Given the description of an element on the screen output the (x, y) to click on. 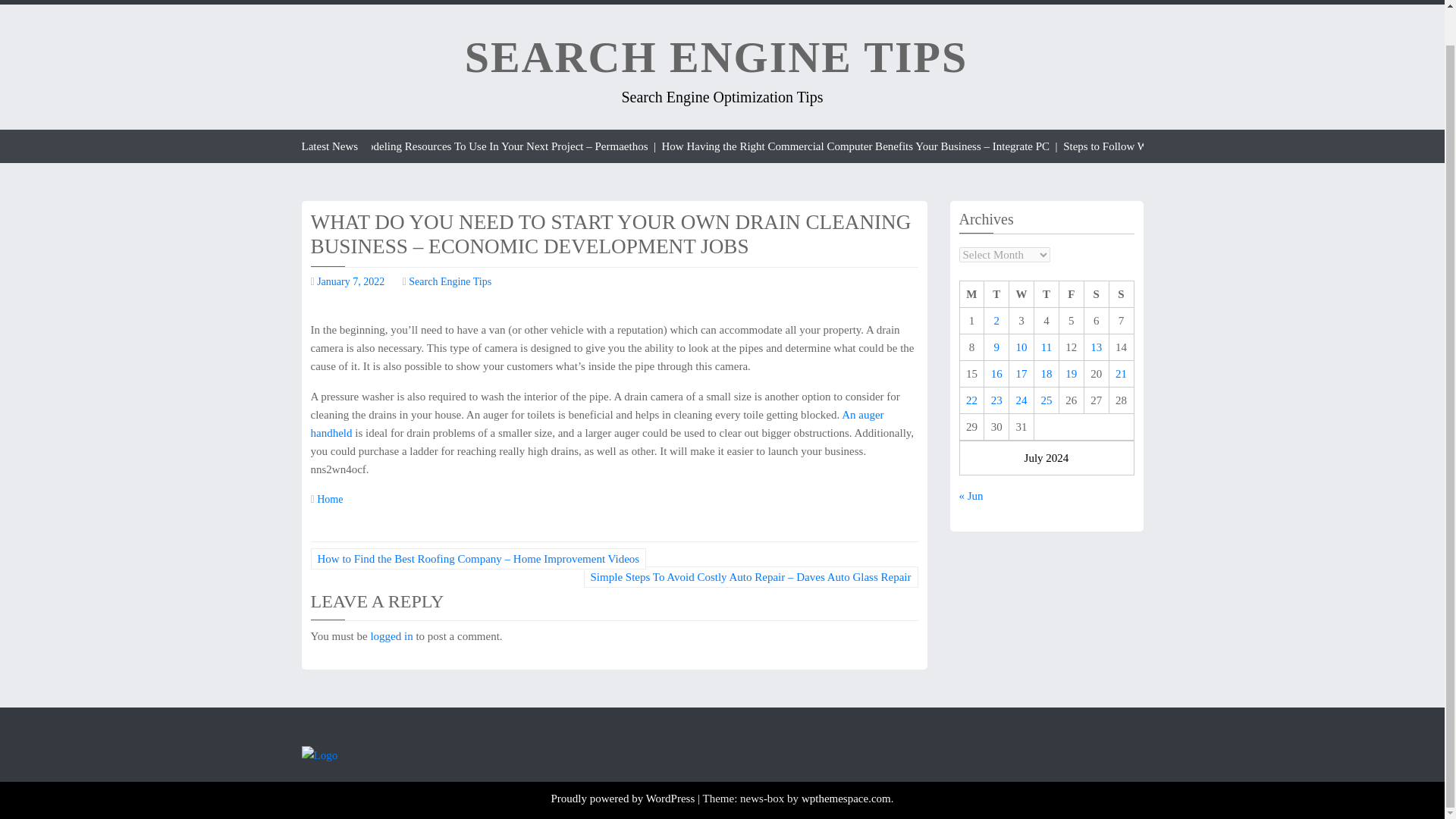
Wednesday (1021, 294)
SEARCH ENGINE TIPS (716, 57)
Tuesday (996, 294)
Proudly powered by WordPress (623, 798)
logged in (390, 635)
wpthemespace.com (846, 798)
Friday (1070, 294)
January 7, 2022 (350, 281)
Sunday (1121, 294)
17 (1021, 373)
9 (997, 346)
16 (997, 373)
2 (997, 320)
11 (1046, 346)
Saturday (1095, 294)
